Given the description of an element on the screen output the (x, y) to click on. 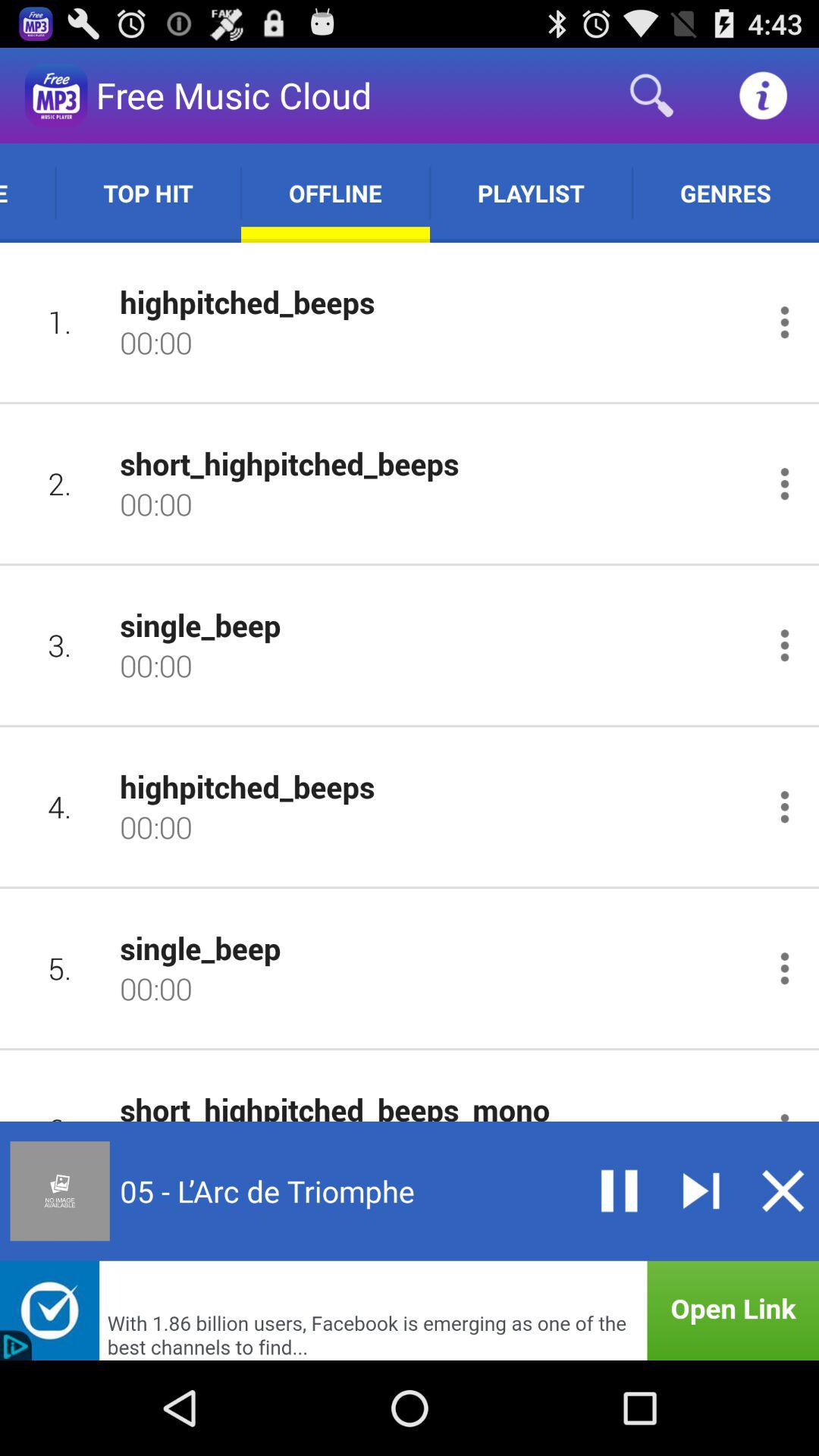
choose the icon to the left of short_highpitched_beeps icon (59, 483)
